Given the description of an element on the screen output the (x, y) to click on. 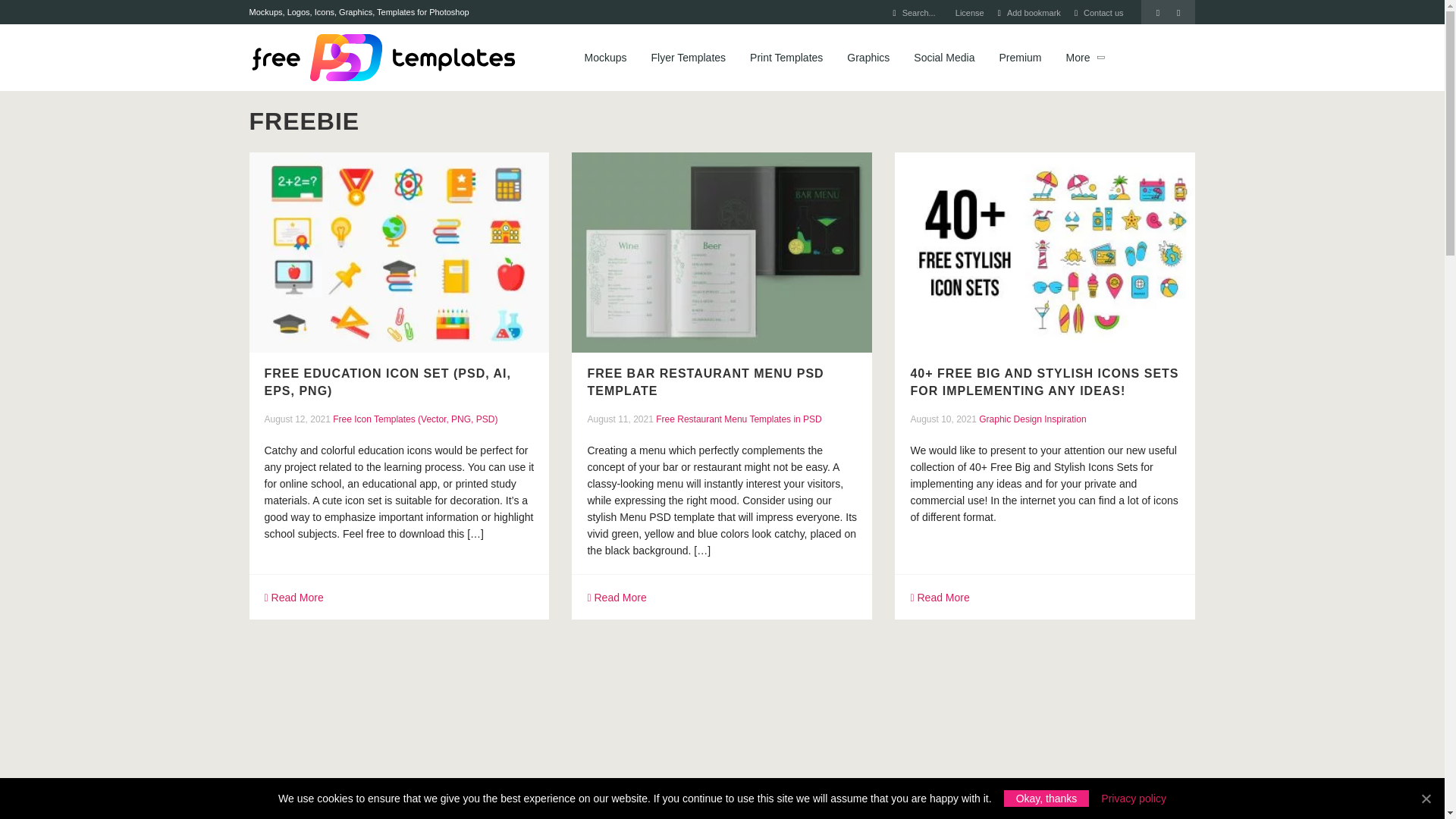
Add bookmark (1034, 12)
Contact us (1103, 12)
Add bookmark (1034, 12)
Search... (919, 12)
Flyer Templates (688, 57)
Search... (919, 12)
Contact us (1103, 12)
License (969, 12)
Free Bar Restaurant Menu PSD Template (705, 381)
Free Bar Restaurant Menu PSD Template (722, 252)
